Given the description of an element on the screen output the (x, y) to click on. 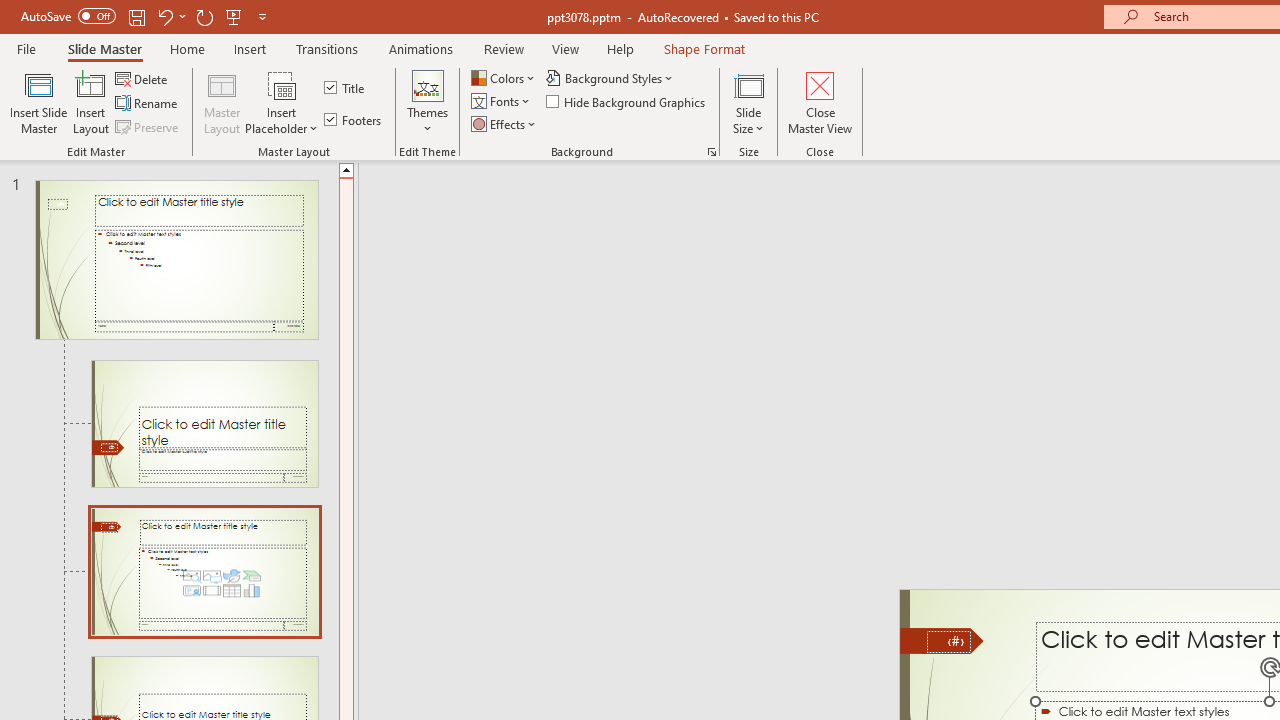
Slide Title Slide Layout: used by slide(s) 1 (204, 423)
Themes (427, 102)
Insert Placeholder (282, 102)
Preserve (148, 126)
Content (282, 84)
Delete (143, 78)
Slide Size (749, 102)
Title (346, 87)
Colors (504, 78)
Slide Title and Content Layout: used by no slides (204, 572)
